Given the description of an element on the screen output the (x, y) to click on. 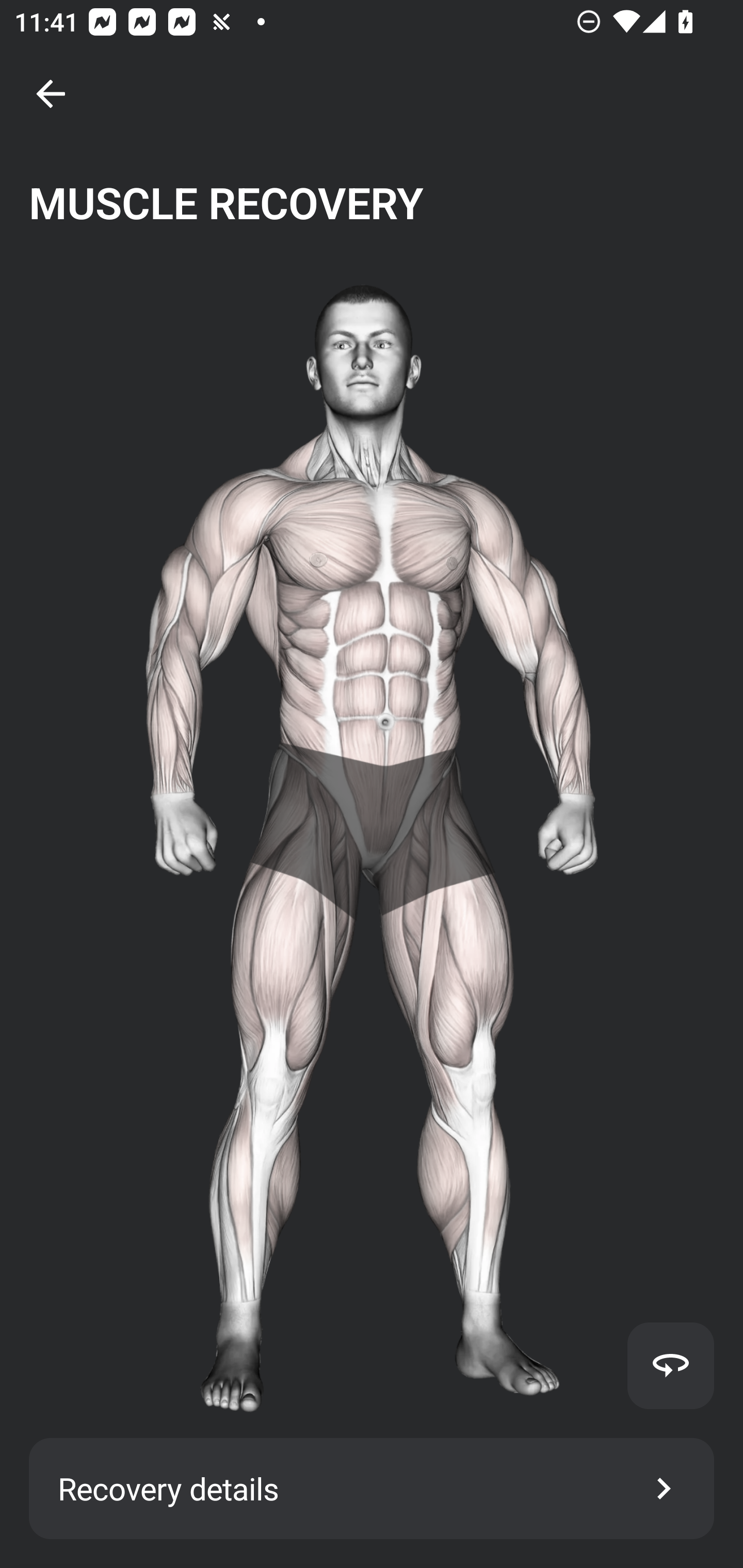
Back Icon (50, 93)
Turn icon (670, 1365)
Recovery details Next icon (371, 1488)
